Given the description of an element on the screen output the (x, y) to click on. 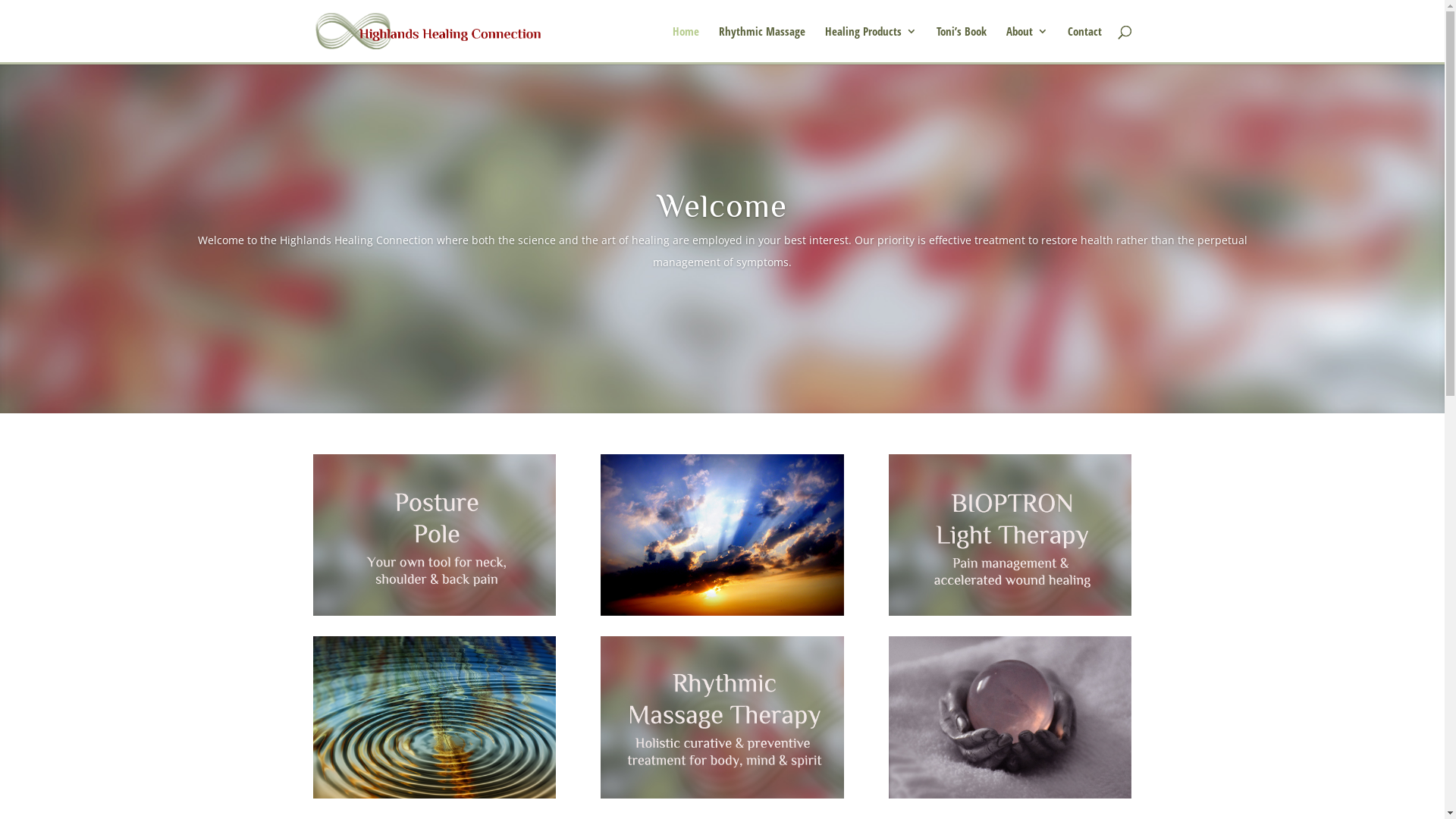
About Element type: text (1026, 43)
Home Element type: text (684, 43)
Rhythmic Massage Element type: text (761, 43)
Healing Products Element type: text (870, 43)
Contact Element type: text (1084, 43)
